Given the description of an element on the screen output the (x, y) to click on. 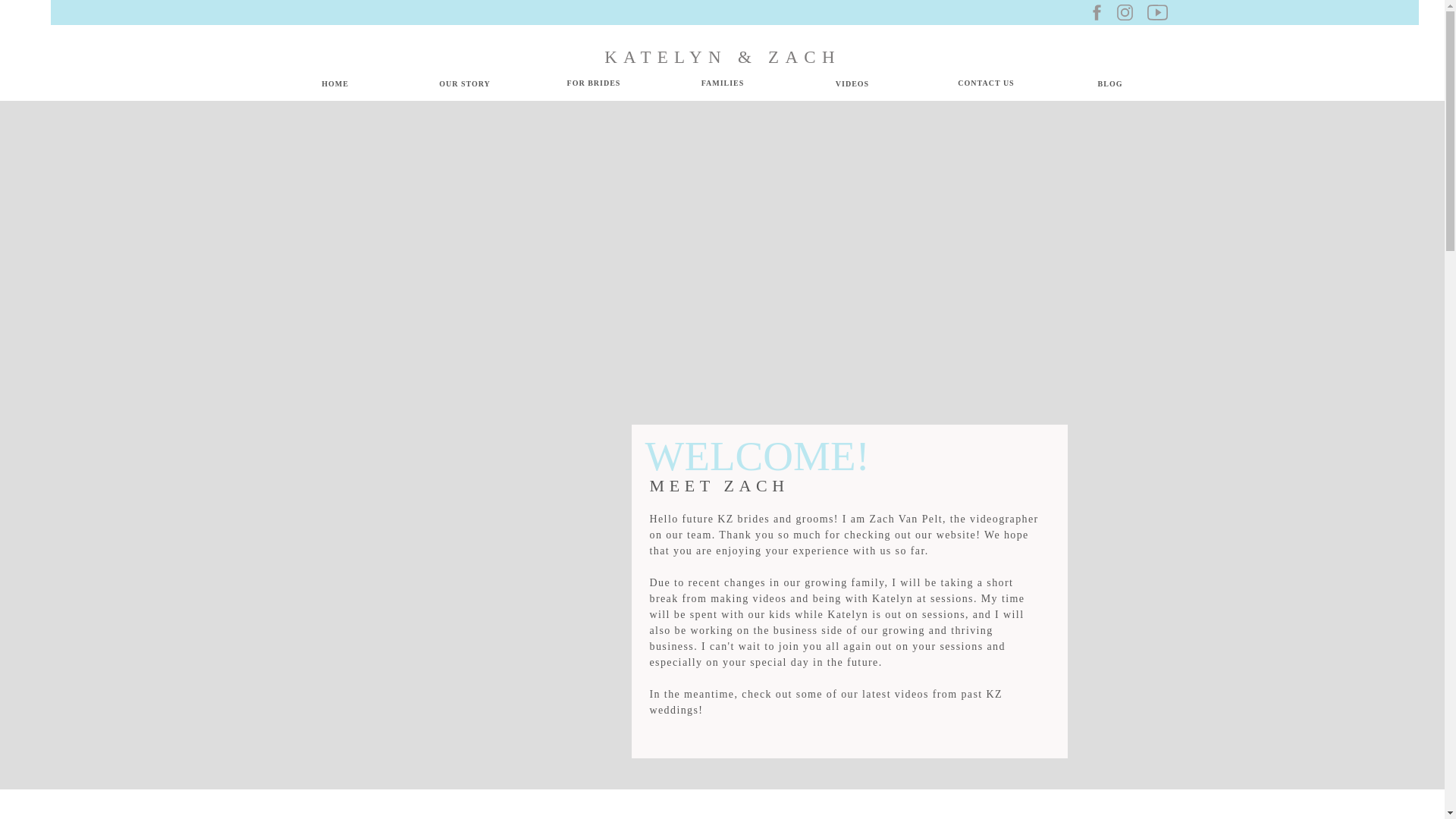
FAMILIES (722, 85)
FOR BRIDES (593, 85)
OUR STORY (464, 86)
VIDEOS (851, 86)
CONTACT US (985, 85)
HOME (334, 86)
BLOG (1109, 86)
